Given the description of an element on the screen output the (x, y) to click on. 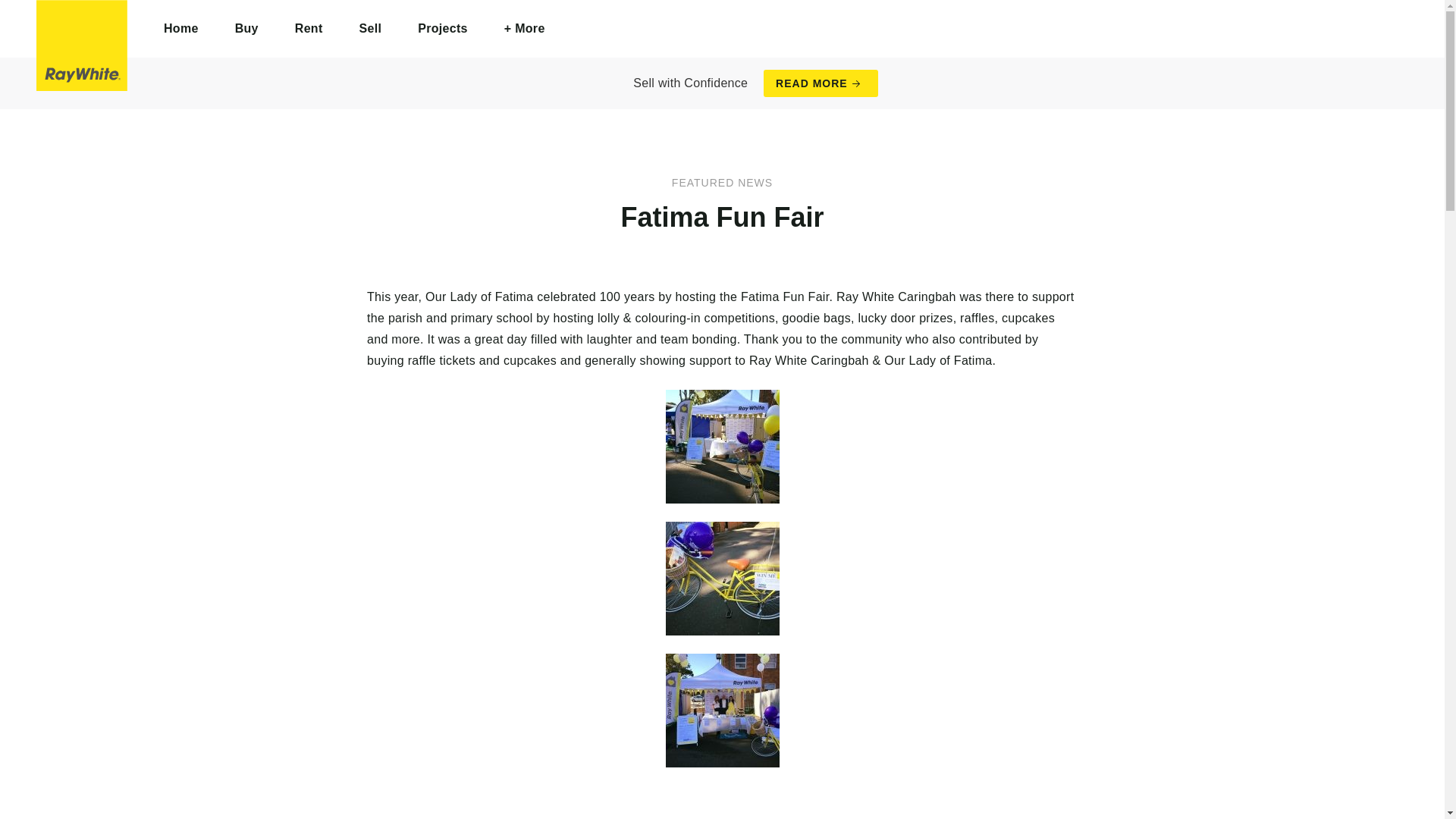
Home (180, 28)
READ MORE (819, 83)
Ray White Caringbah (82, 45)
